Given the description of an element on the screen output the (x, y) to click on. 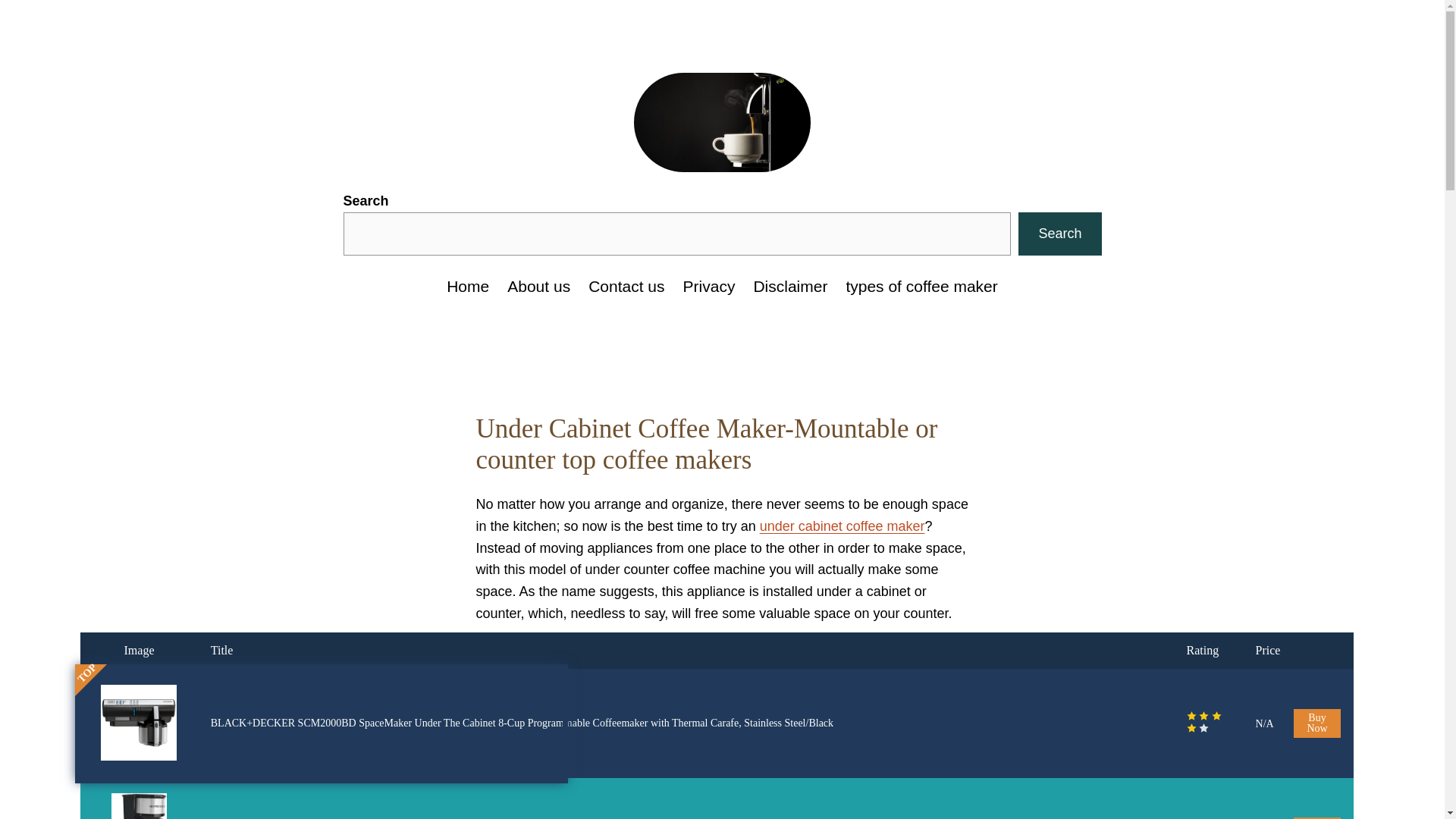
under cabinet coffee maker (842, 525)
Search (1058, 233)
Contact us (625, 286)
Home (467, 286)
types of coffee maker (921, 286)
Buy Now (1317, 818)
Disclaimer (789, 286)
About us (538, 286)
Buy Now (1317, 723)
Privacy (708, 286)
